Given the description of an element on the screen output the (x, y) to click on. 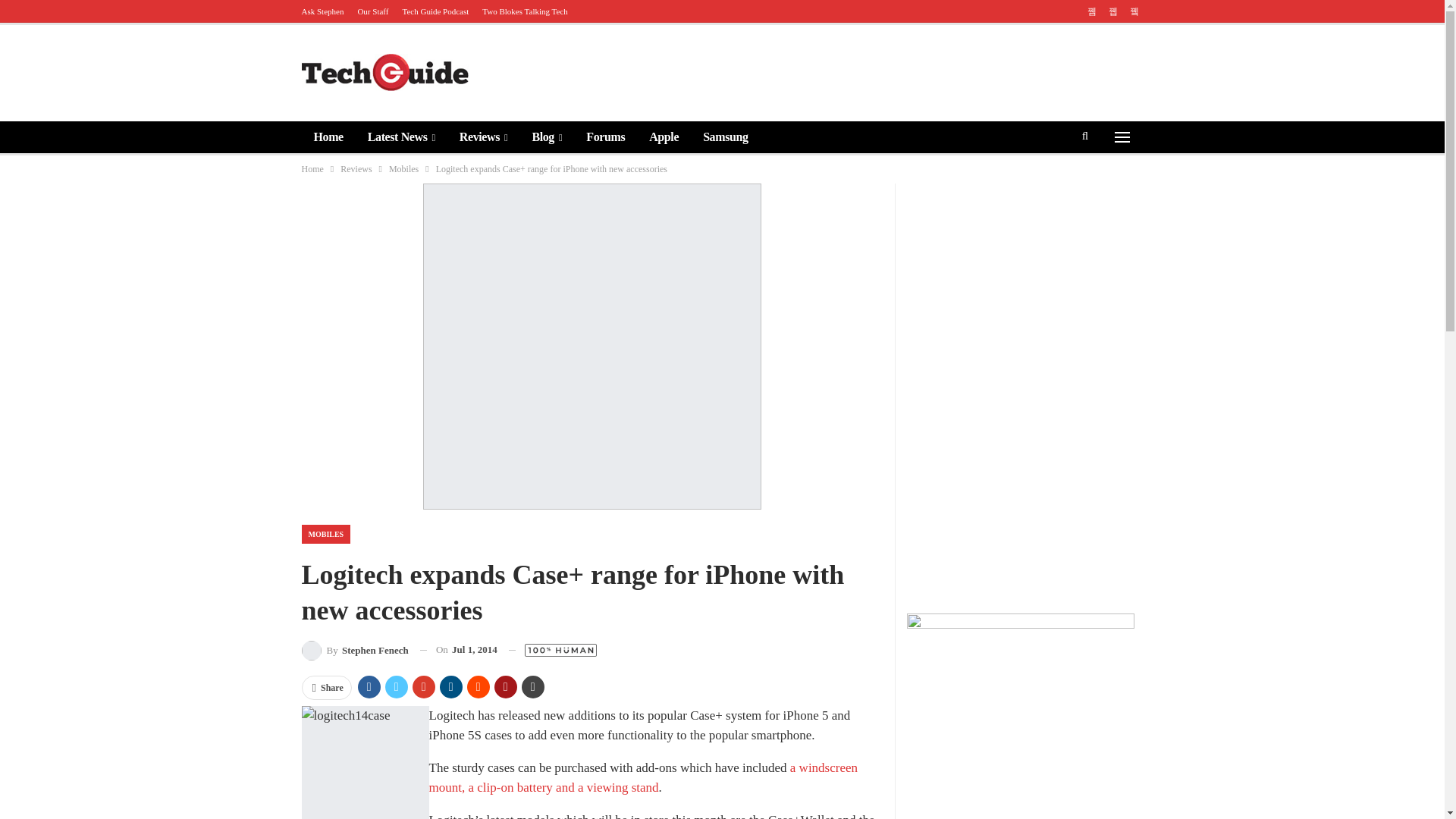
Browse Author Articles (355, 649)
Our Staff (372, 10)
3rd party ad content (865, 71)
Ask Stephen (322, 10)
Latest News (400, 137)
Tech Guide Podcast (434, 10)
Home (328, 137)
Two Blokes Talking Tech (524, 10)
